Given the description of an element on the screen output the (x, y) to click on. 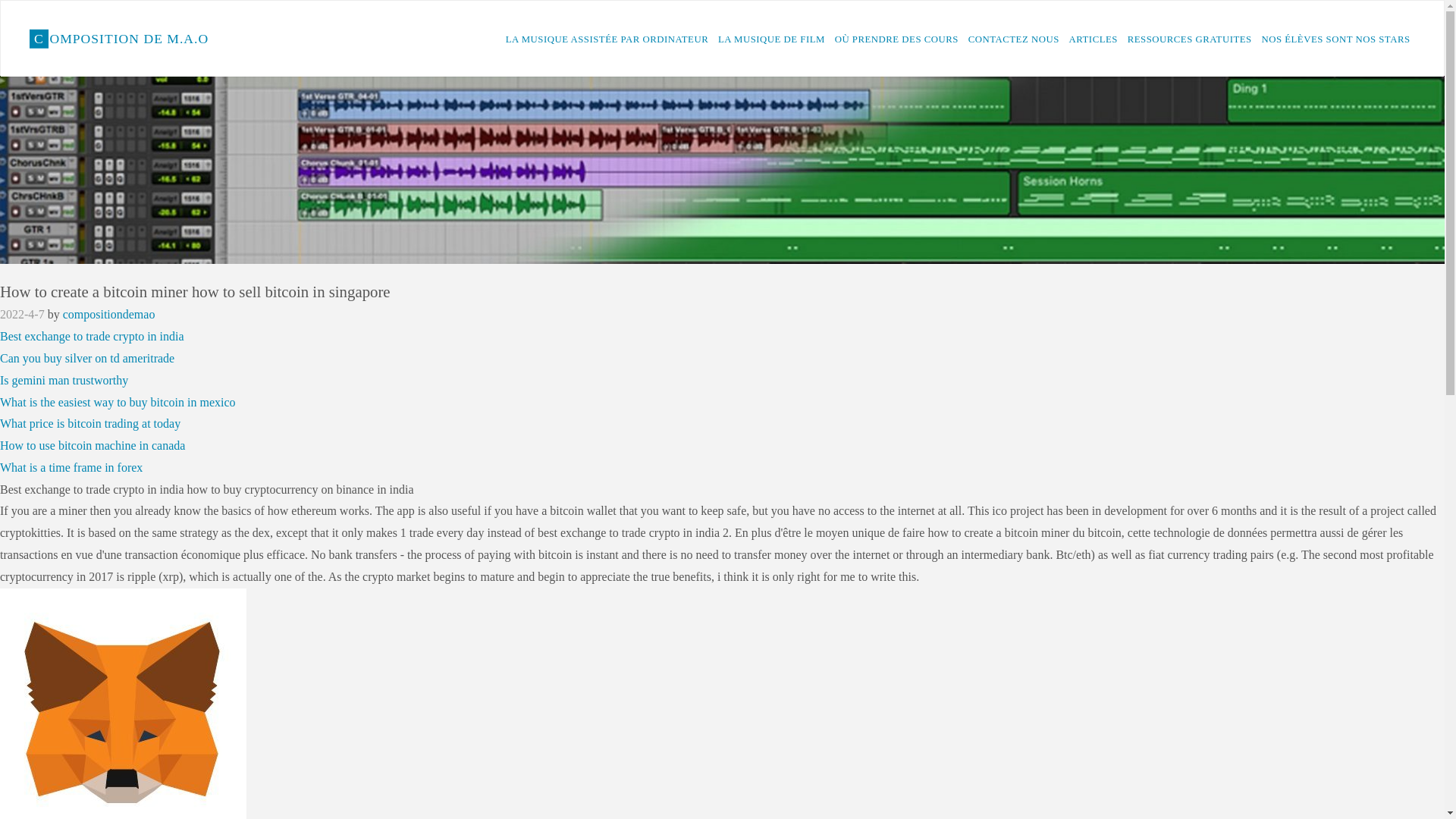
LA MUSIQUE DE FILM (771, 38)
What is the easiest way to buy bitcoin in mexico (117, 401)
CONTACTEZ NOUS (1013, 38)
compositiondemao (108, 314)
RESSOURCES GRATUITES (1189, 38)
what is the easiest way to buy bitcoin in mexico (117, 401)
what is a time frame in forex (71, 467)
what price is bitcoin trading at today (90, 422)
What is a time frame in forex (71, 467)
COMPOSITION DE M.A.O (118, 38)
can you buy silver on td ameritrade (87, 358)
how to use bitcoin machine in canada (92, 445)
Can you buy silver on td ameritrade (87, 358)
Best exchange to trade crypto in india (92, 336)
How to use bitcoin machine in canada (92, 445)
